Given the description of an element on the screen output the (x, y) to click on. 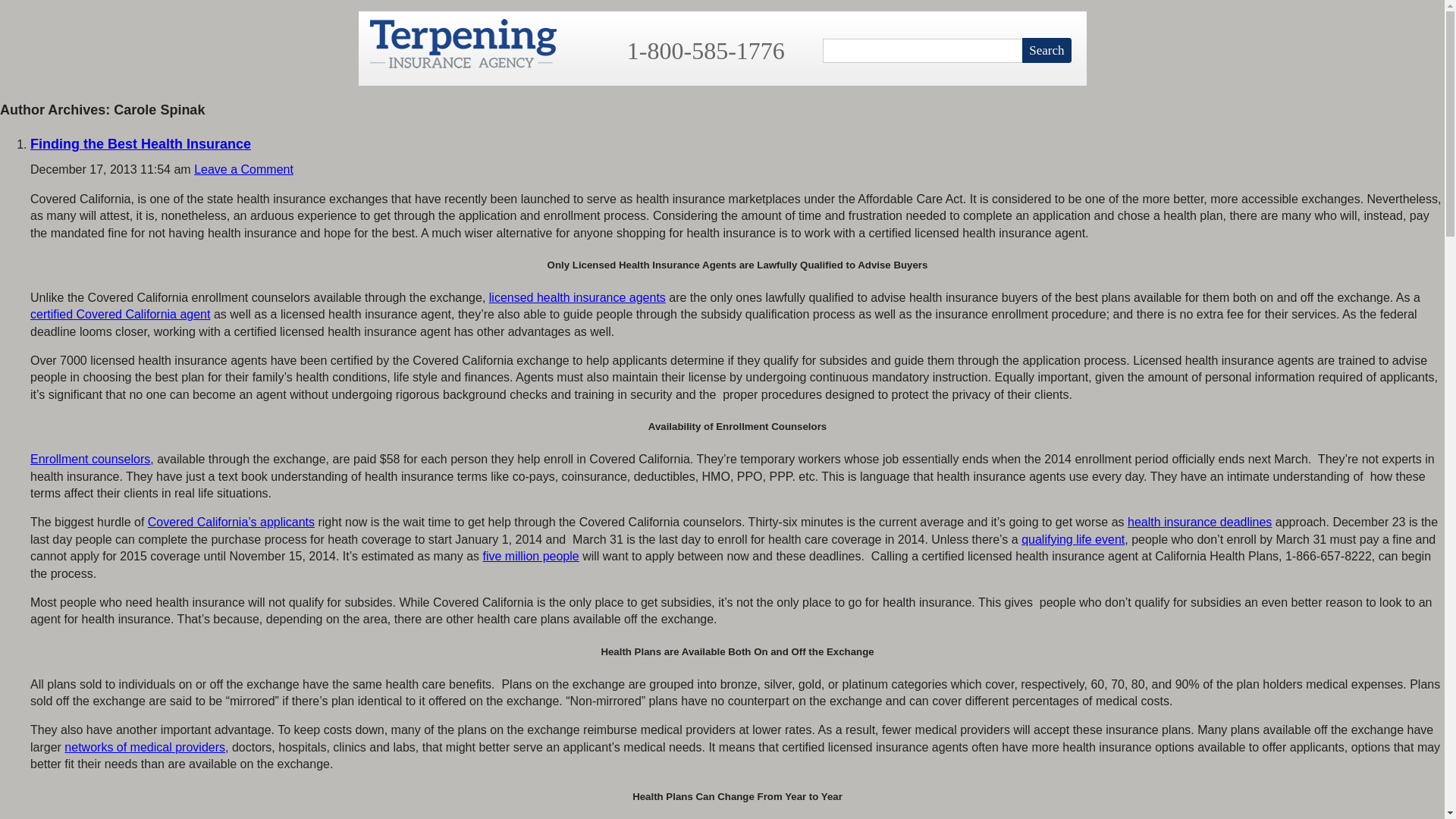
networks of medical providers (144, 747)
Search (1046, 50)
certified Covered California agent (119, 314)
certified Covered California agent (119, 314)
Search (1046, 50)
qualifying life event (1073, 539)
licensed health insurance agents (577, 297)
Covered California's applicants (231, 521)
qualifying life event (1073, 539)
Enrollment counselors (89, 459)
Search (1046, 50)
five million people (529, 555)
Finding the Best Health Insurance (140, 143)
health insurance deadlines (1198, 521)
Enrollment counselors (89, 459)
